Given the description of an element on the screen output the (x, y) to click on. 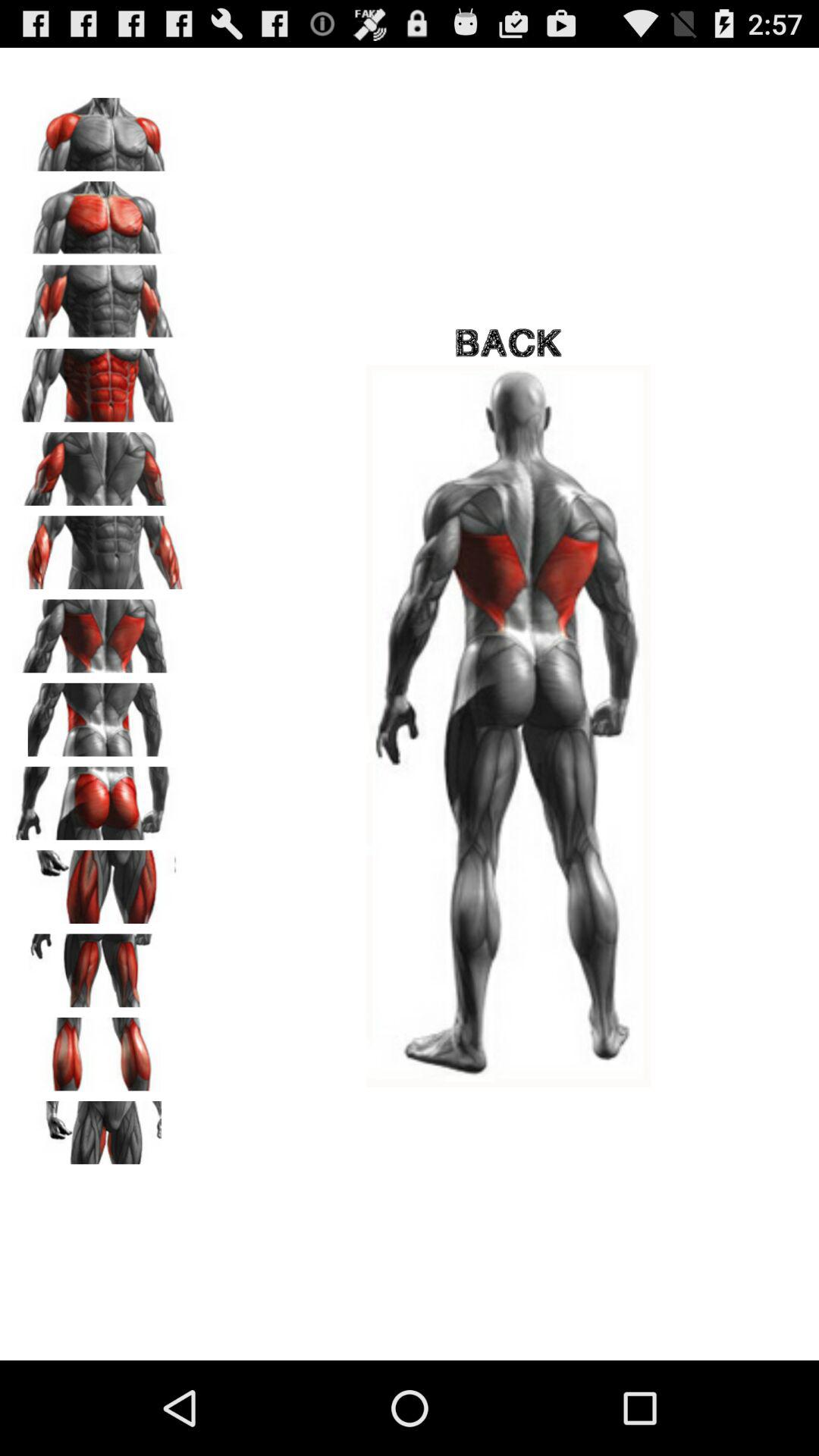
front chest muscle (99, 212)
